Given the description of an element on the screen output the (x, y) to click on. 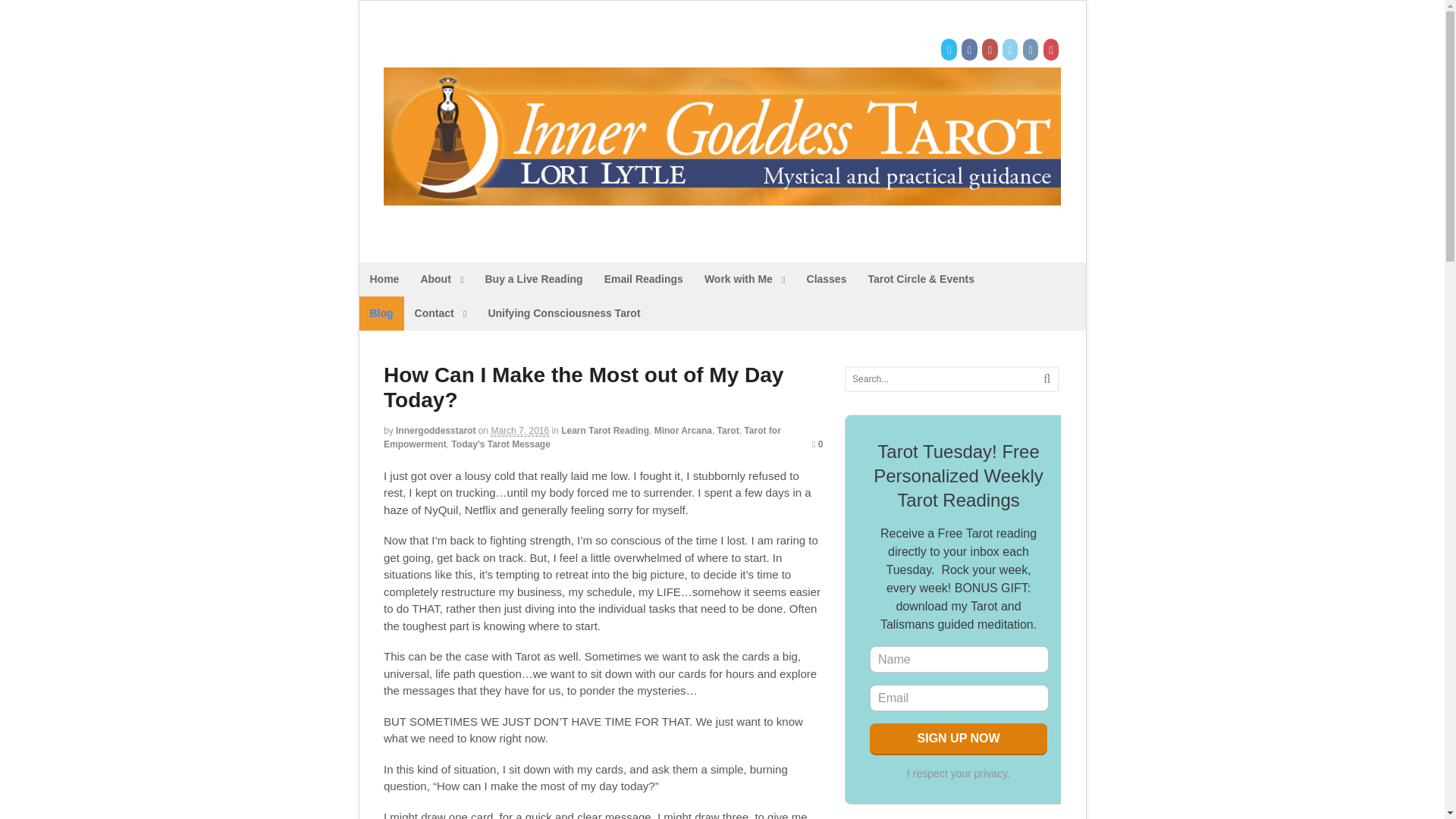
Tarot (728, 430)
View all items in Minor Arcana (682, 430)
Sign Up Now (957, 738)
Instagram (1032, 50)
Tarot for Empowerment (582, 437)
Facebook (969, 50)
LinkedIn (1011, 50)
Posts by innergoddesstarot (436, 430)
0 (817, 443)
View all items in Learn Tarot Reading (604, 430)
Minor Arcana (682, 430)
Contact (440, 313)
Unifying Consciousness Tarot (563, 313)
Home (384, 279)
YouTube (989, 50)
